Given the description of an element on the screen output the (x, y) to click on. 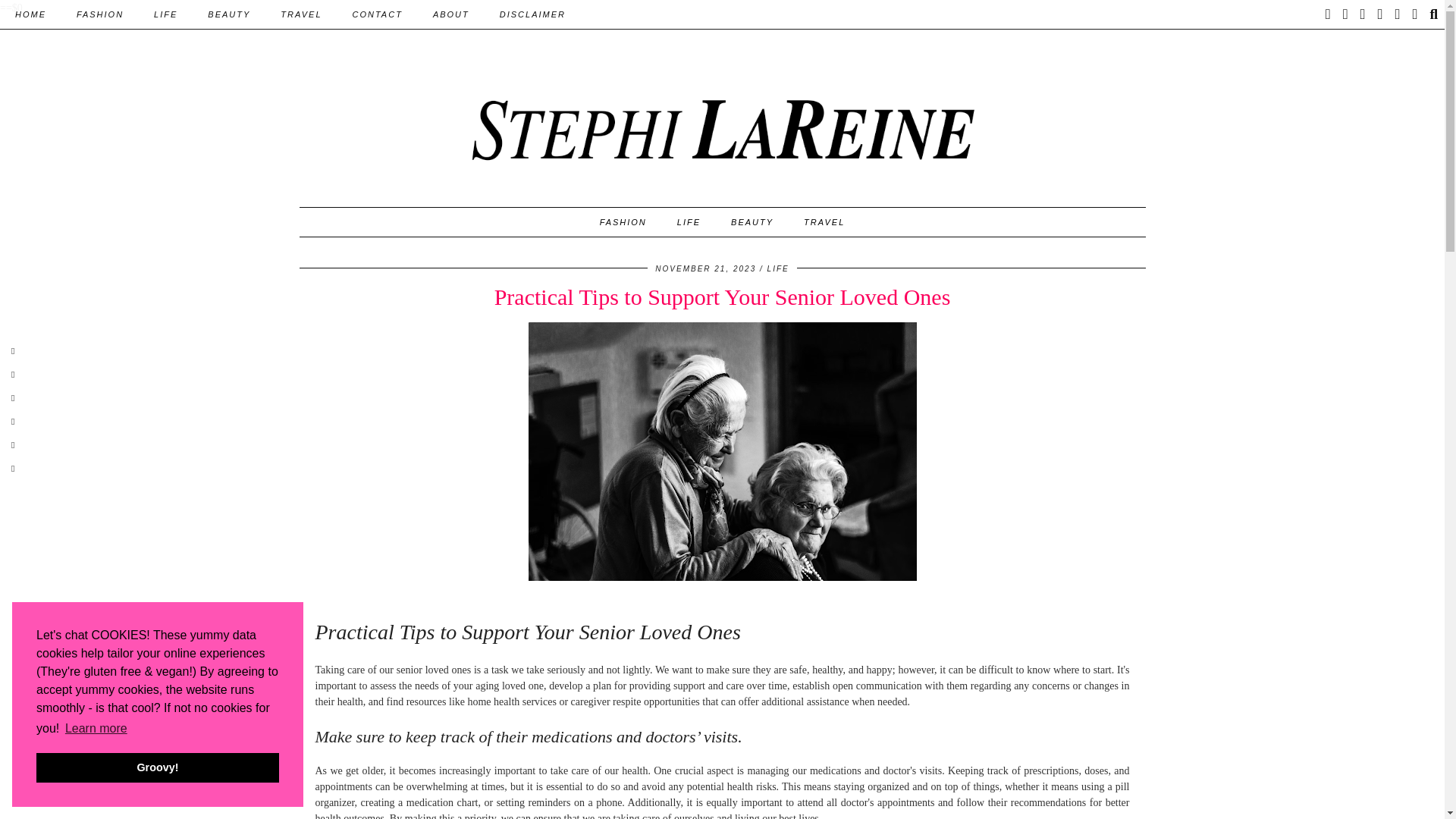
Learn more (95, 728)
HOME (30, 14)
FASHION (99, 14)
Groovy! (157, 767)
LIFE (165, 14)
BEAUTY (228, 14)
